Given the description of an element on the screen output the (x, y) to click on. 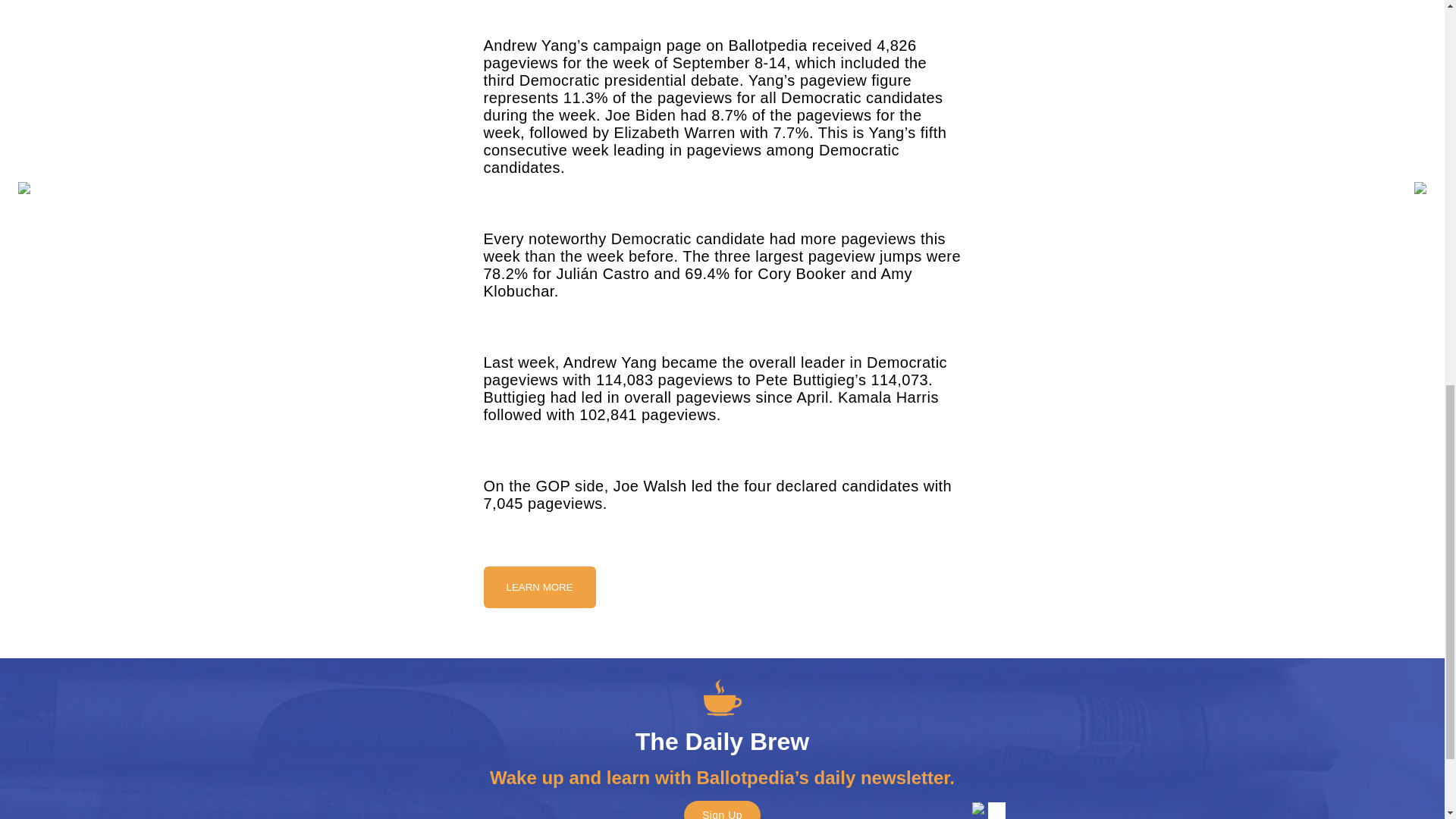
LEARN MORE (539, 585)
LEARN MORE (539, 587)
Sign Up (722, 809)
